Given the description of an element on the screen output the (x, y) to click on. 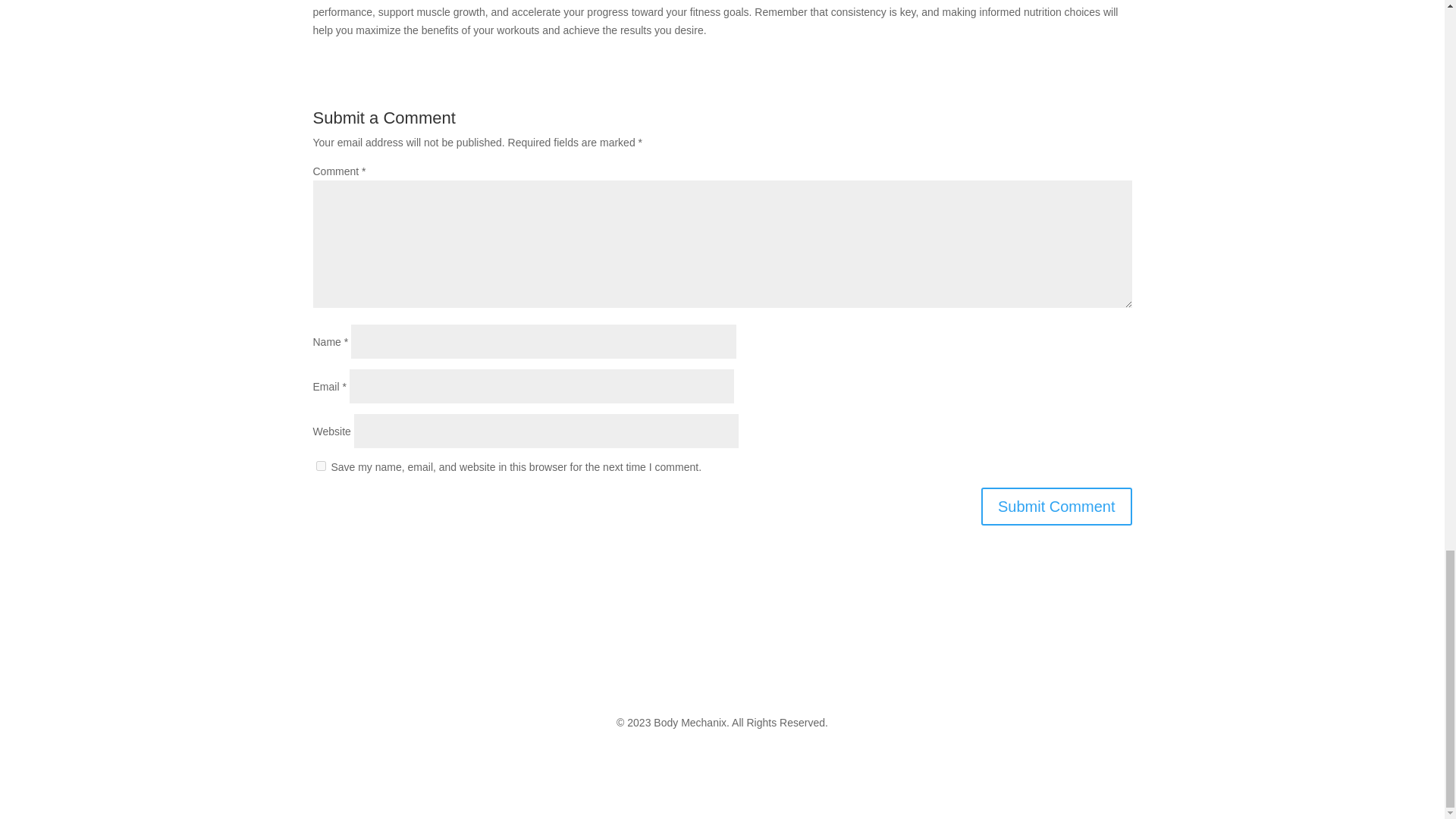
yes (319, 465)
Submit Comment (1056, 506)
Submit Comment (1056, 506)
